Given the description of an element on the screen output the (x, y) to click on. 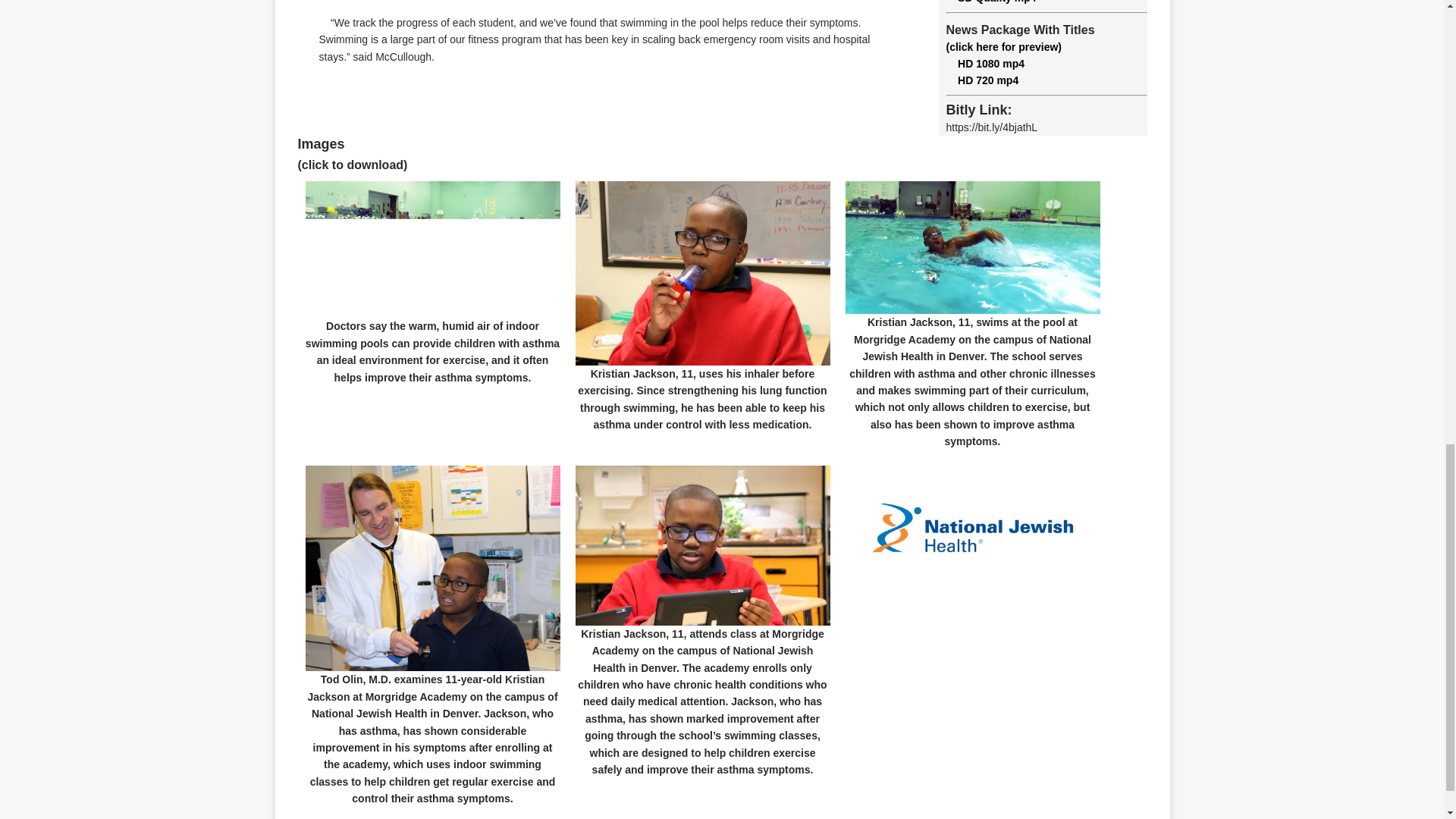
Facebook (261, 125)
Twitter (261, 95)
Email (261, 155)
Facebook (261, 125)
Twitter (261, 95)
Email (261, 155)
